Given the description of an element on the screen output the (x, y) to click on. 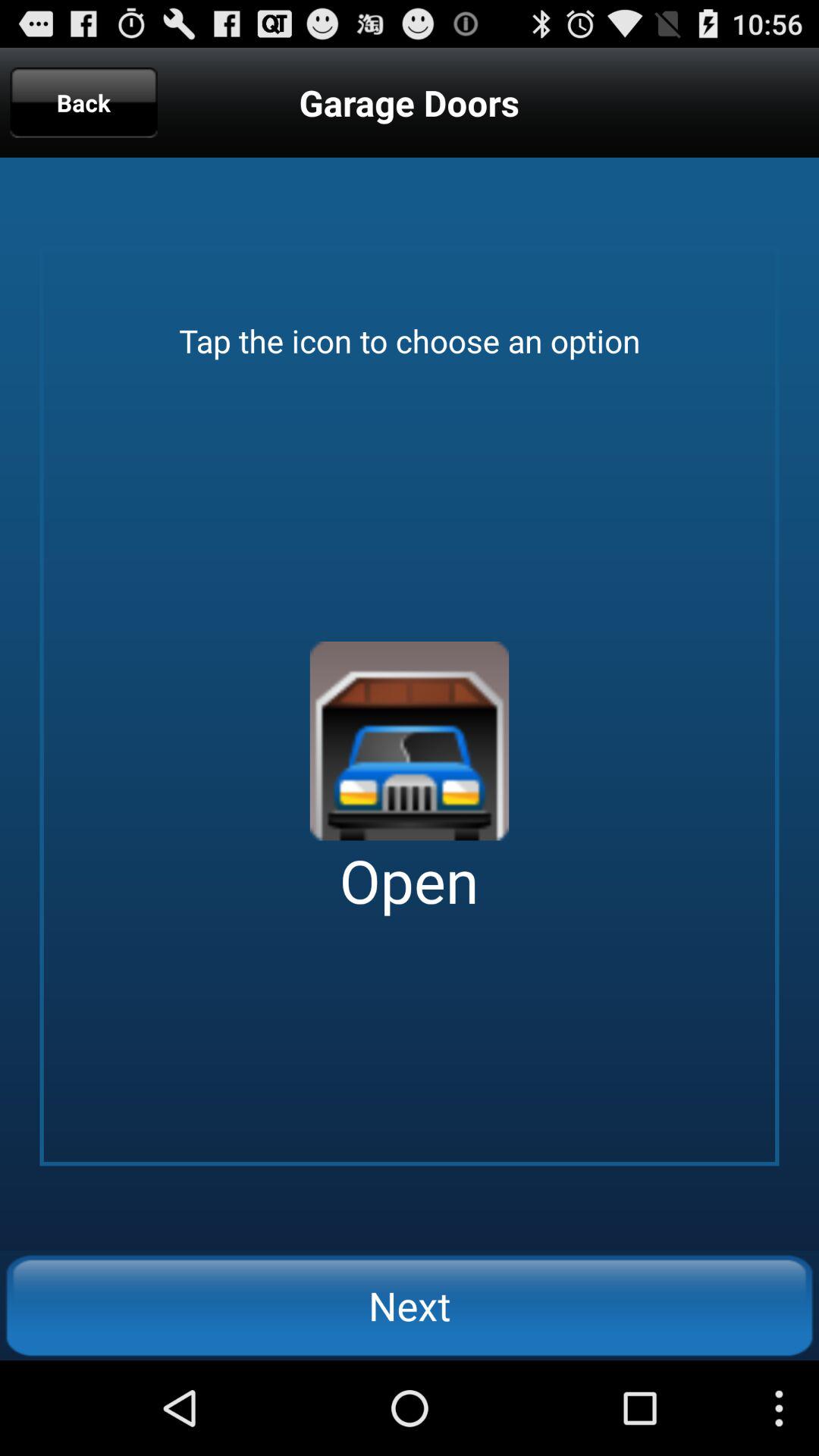
open (409, 740)
